Given the description of an element on the screen output the (x, y) to click on. 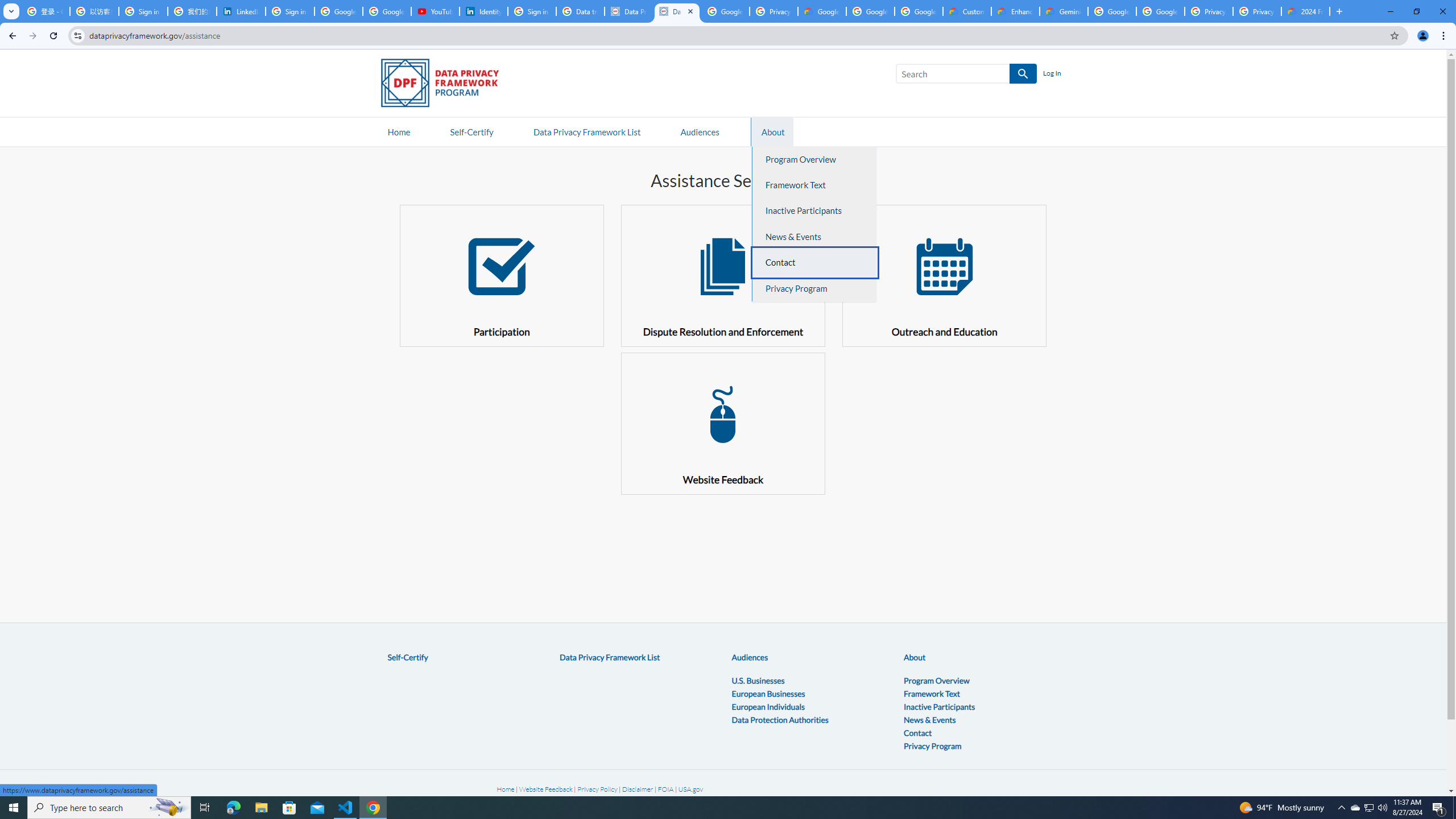
Website Feedback (545, 788)
Customer Care | Google Cloud (966, 11)
Contact (917, 732)
About (915, 657)
Data Protection Authorities (779, 719)
Log In (1051, 73)
SEARCH (1022, 73)
Program Overview (936, 679)
Data Privacy Framework (676, 11)
Gemini for Business and Developers | Google Cloud (1064, 11)
